Given the description of an element on the screen output the (x, y) to click on. 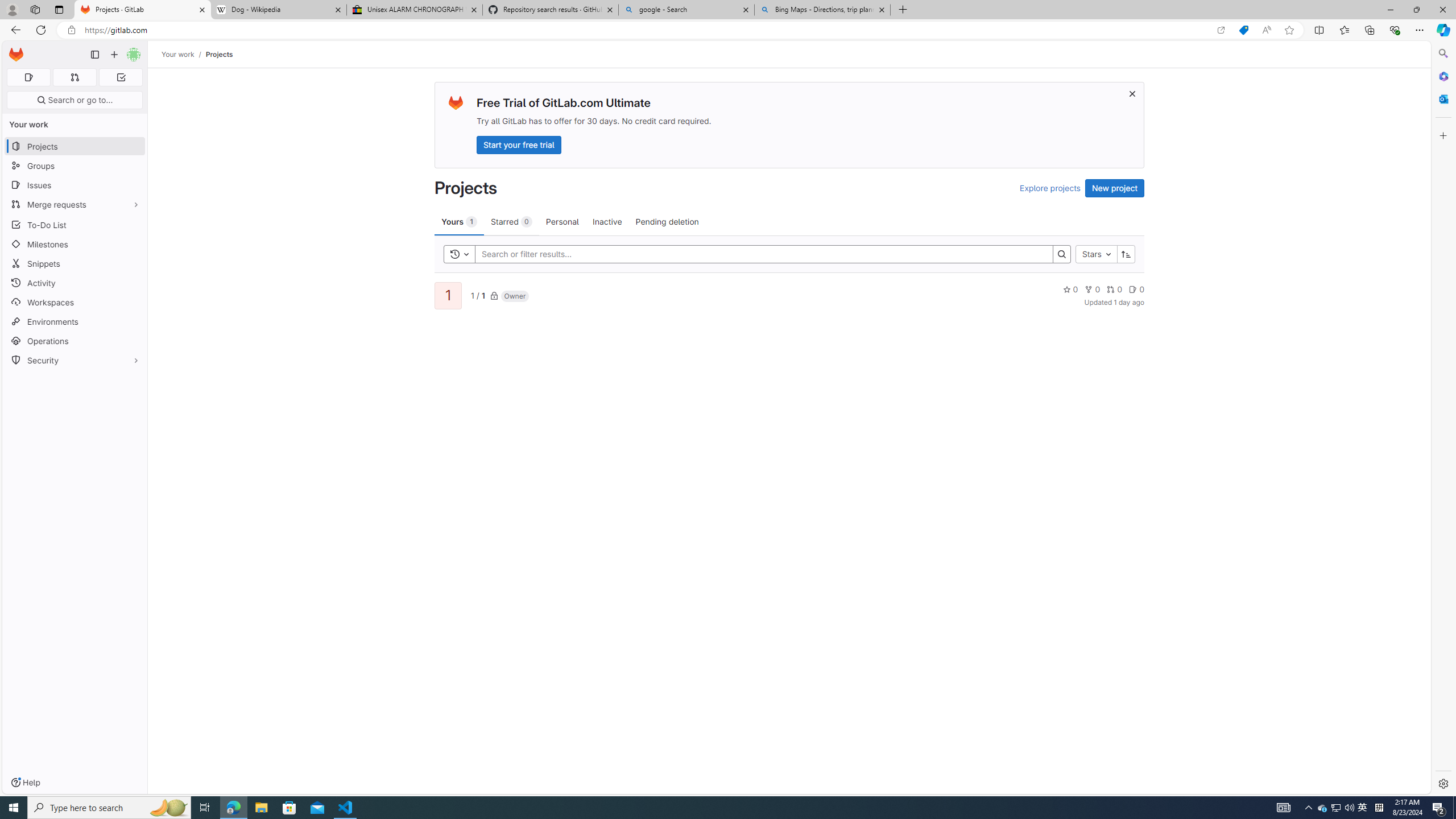
Start your free trial (519, 144)
Operations (74, 340)
Snippets (74, 262)
Assigned issues 0 (28, 76)
Your work/ (183, 53)
Milestones (74, 244)
